Given the description of an element on the screen output the (x, y) to click on. 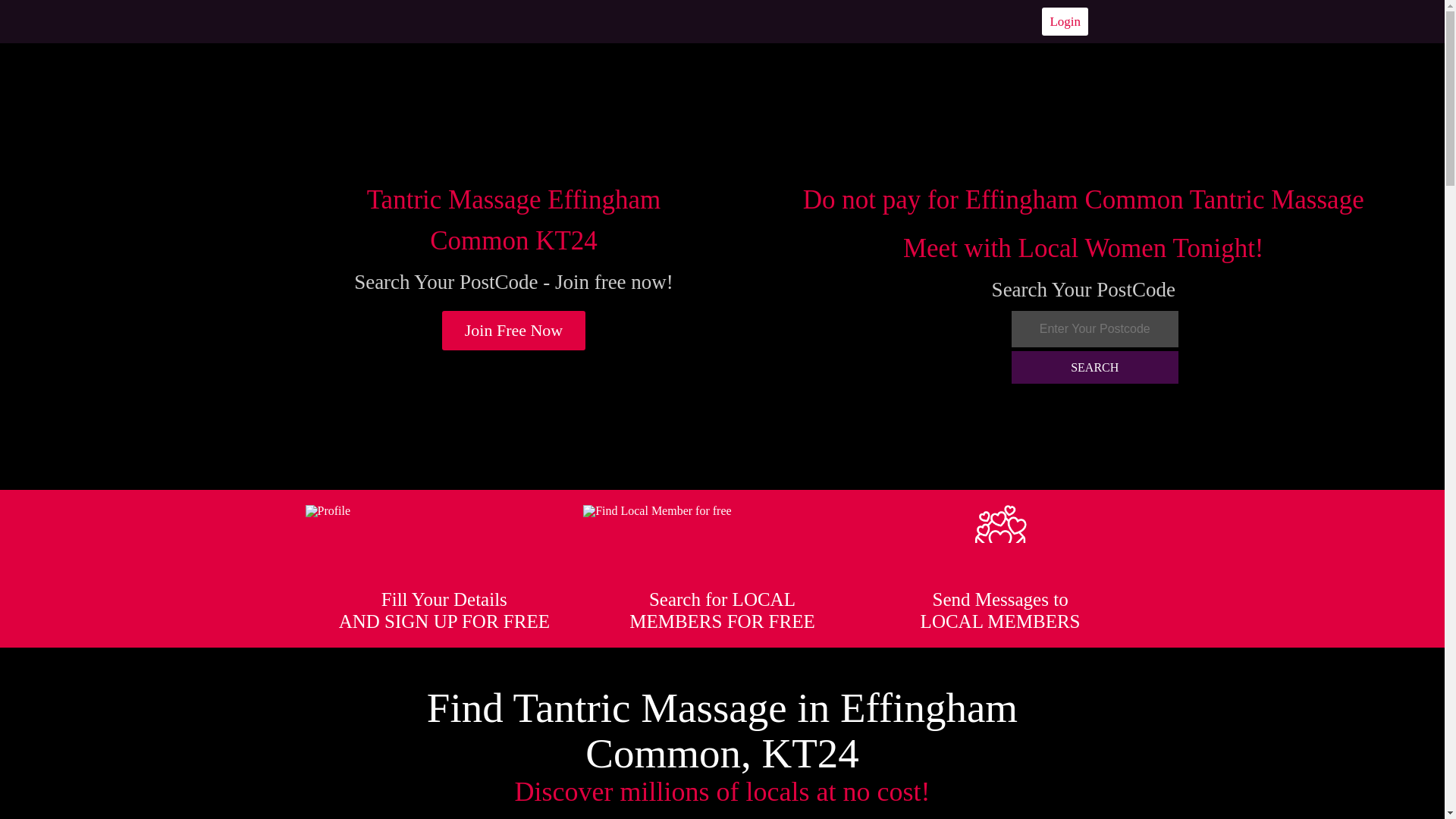
Join Free Now (514, 330)
Login (1064, 21)
Join (514, 330)
SEARCH (1094, 367)
Login (1064, 21)
